Given the description of an element on the screen output the (x, y) to click on. 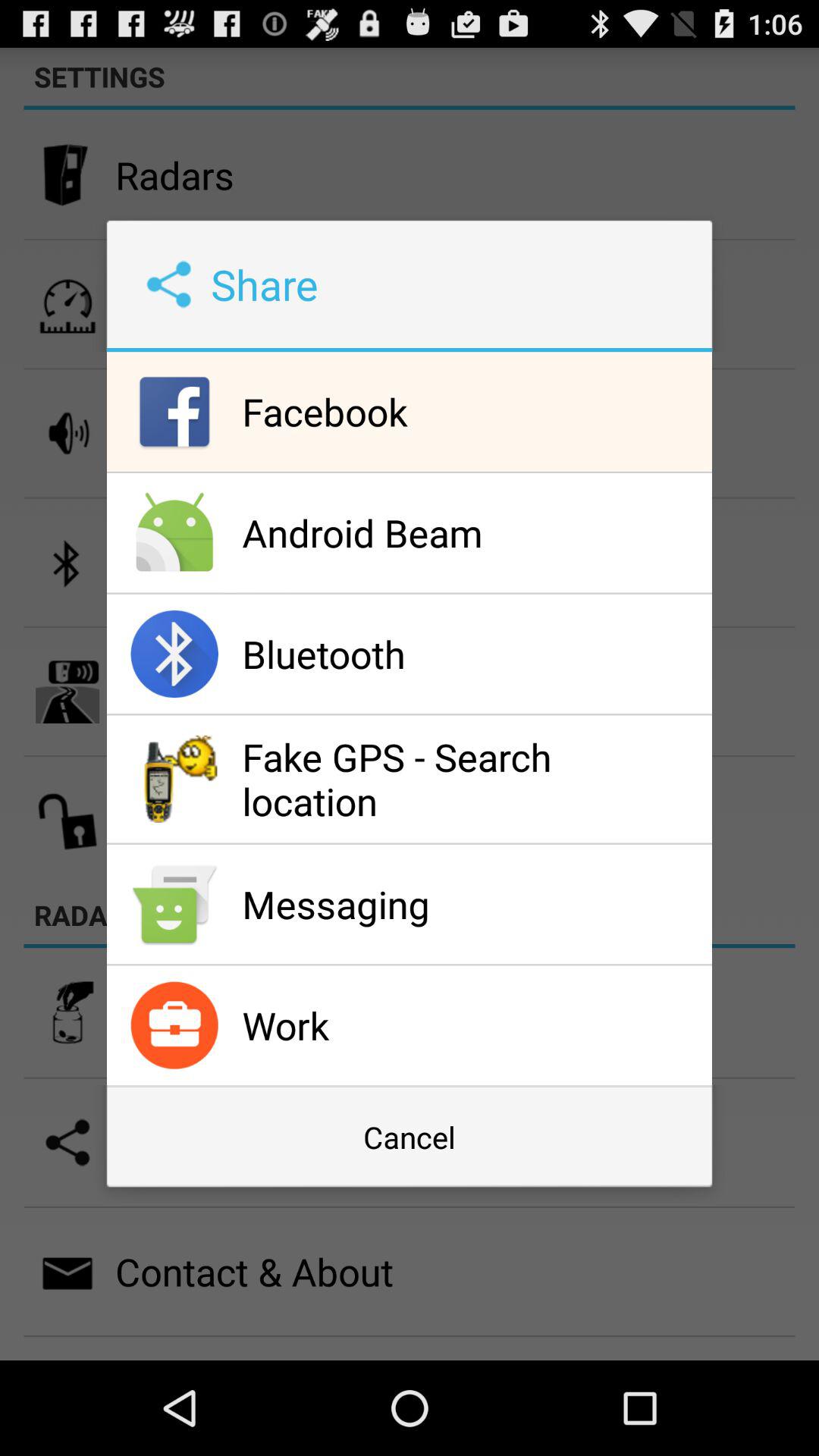
click the icon below fake gps search icon (473, 903)
